Given the description of an element on the screen output the (x, y) to click on. 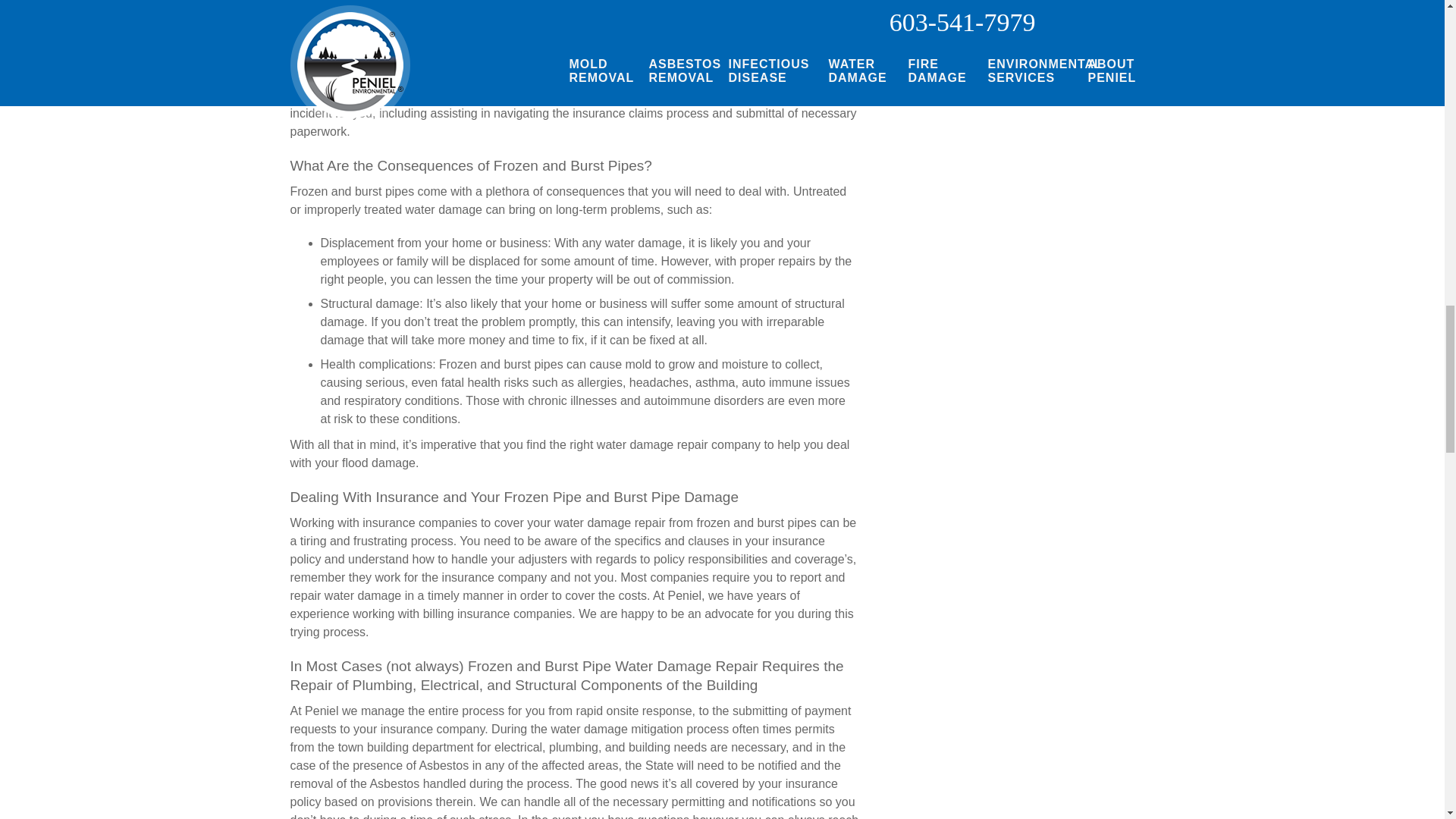
SUBMIT (1018, 16)
